Given the description of an element on the screen output the (x, y) to click on. 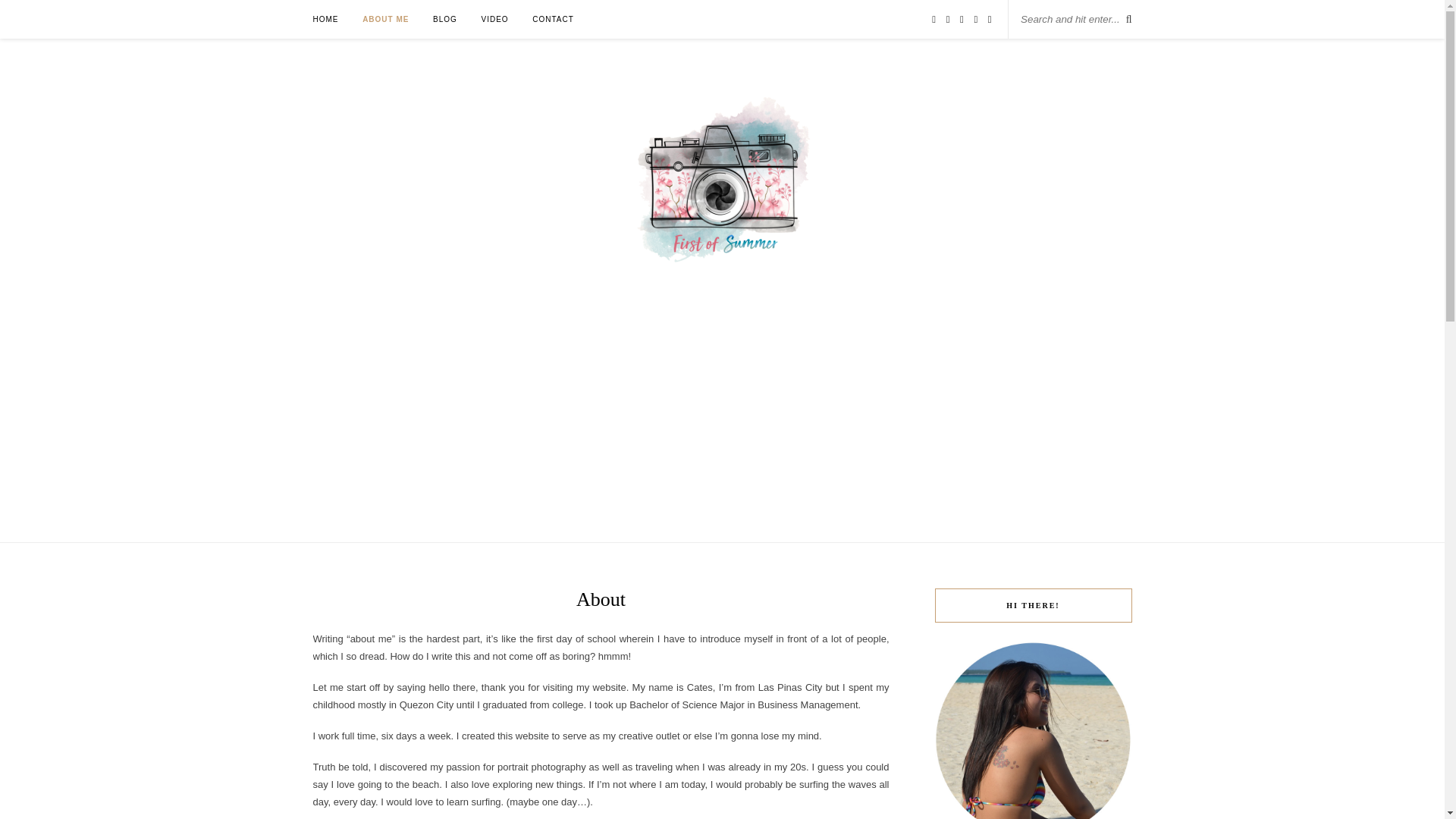
CONTACT (552, 19)
ABOUT ME (385, 19)
